Given the description of an element on the screen output the (x, y) to click on. 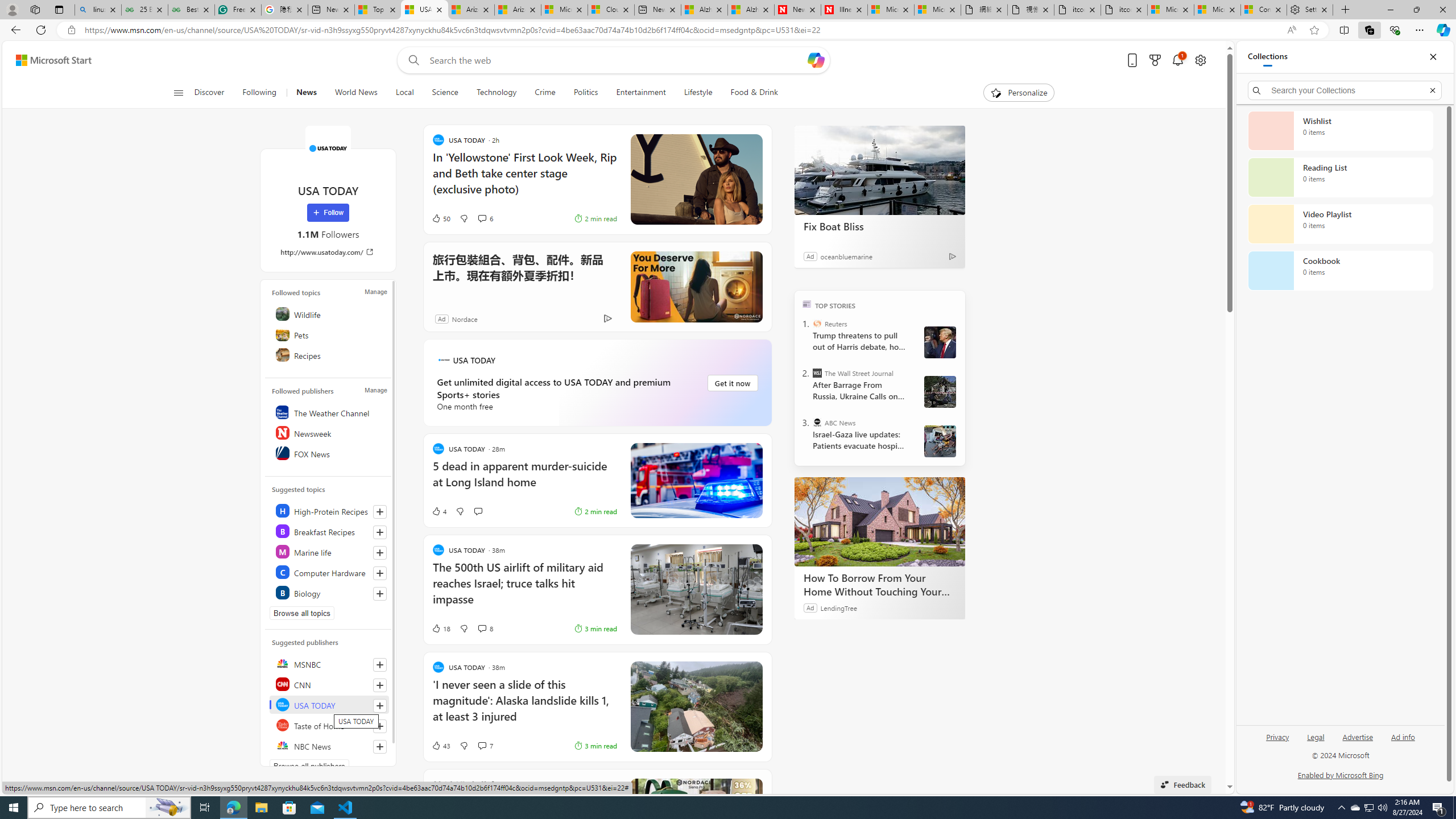
View comments 7 Comment (481, 745)
TOP (806, 302)
Video Playlist collection, 0 items (1339, 223)
linux basic - Search (97, 9)
Blue Flash Light Of Police Car Against Red Fire Truck (696, 480)
Wishlist collection, 0 items (1339, 130)
